Given the description of an element on the screen output the (x, y) to click on. 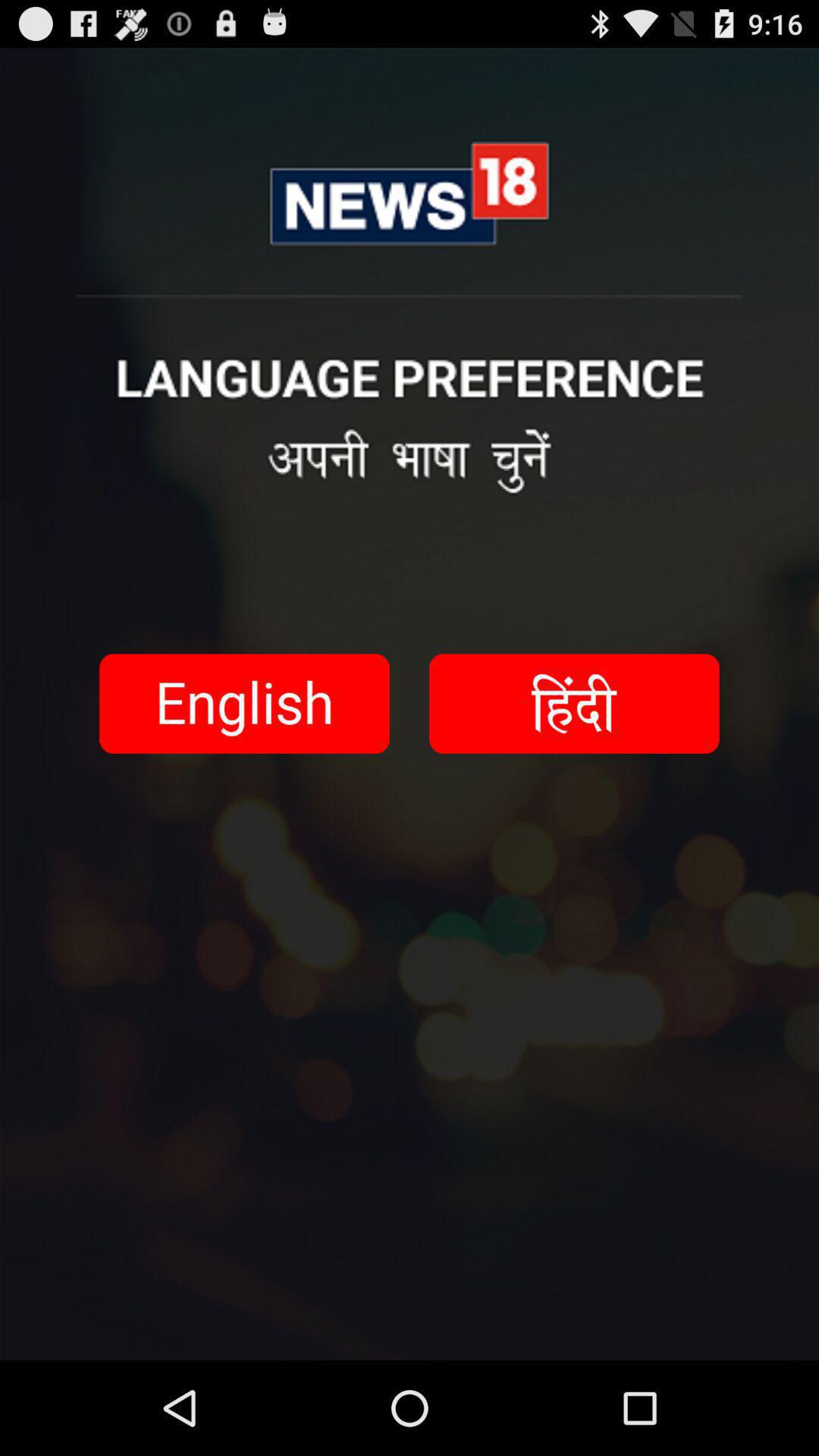
select language (244, 703)
